Given the description of an element on the screen output the (x, y) to click on. 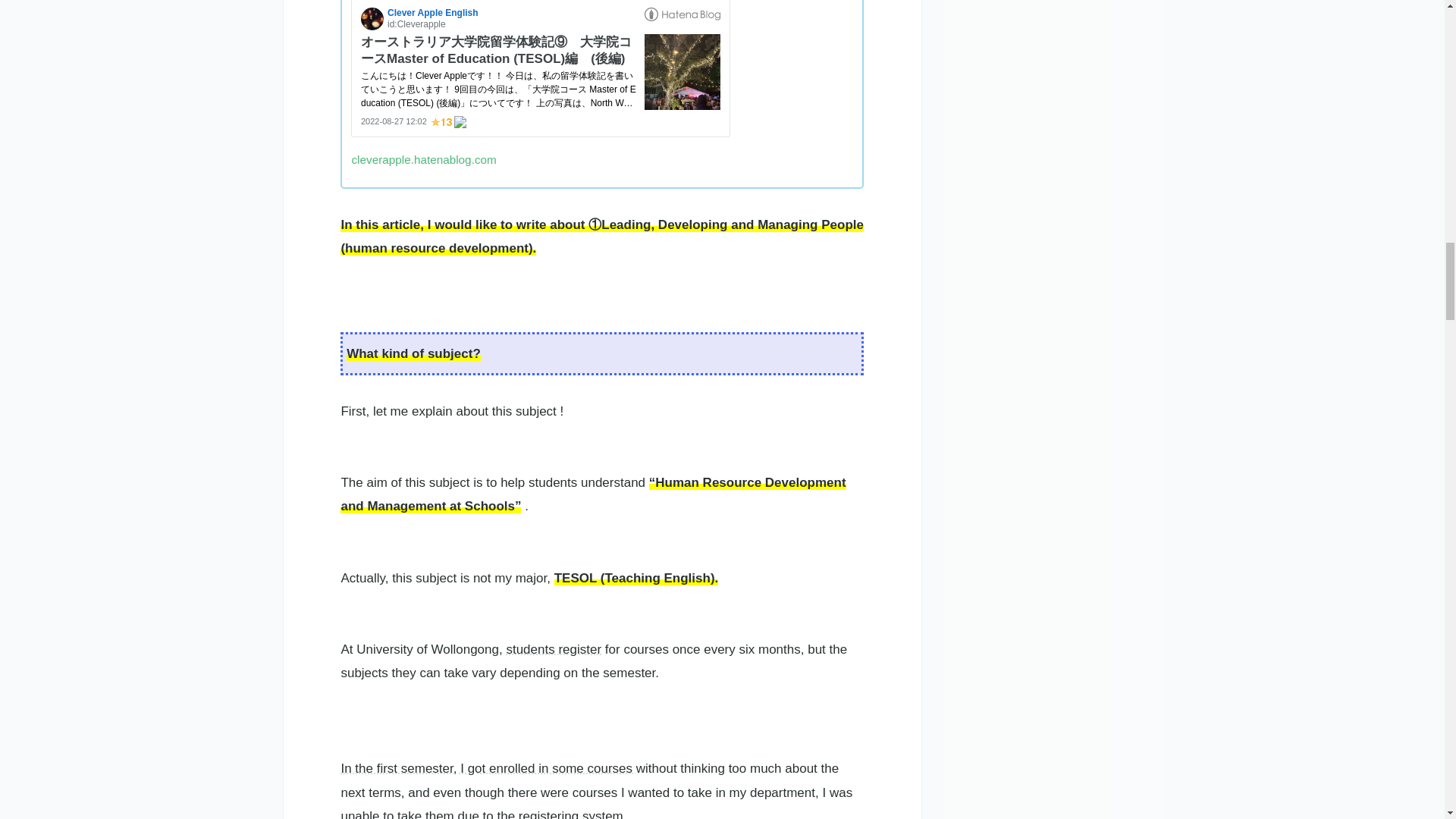
In the first semester, I got enrolled in some courses (487, 768)
students register (553, 649)
cleverapple.hatenablog.com (423, 159)
